Given the description of an element on the screen output the (x, y) to click on. 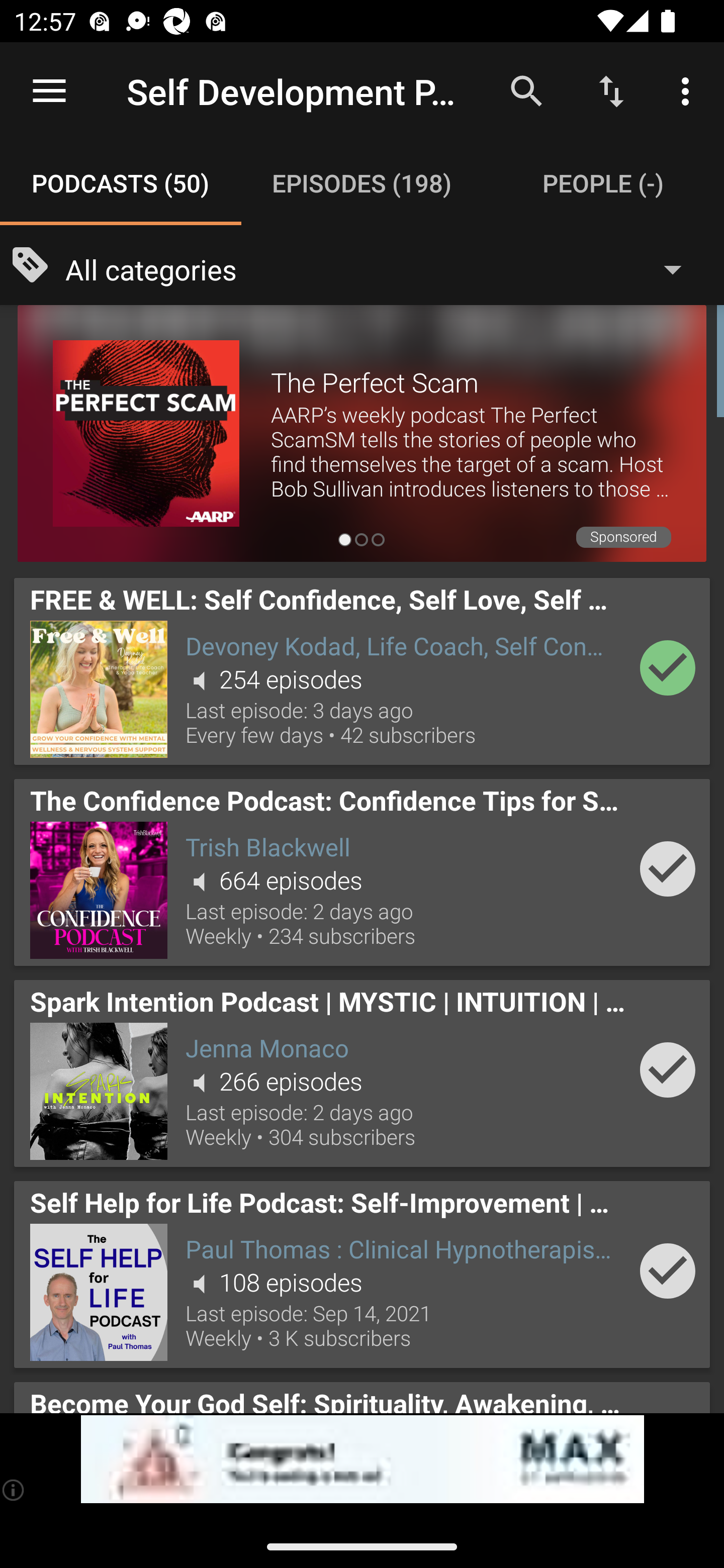
Open navigation sidebar (49, 91)
Search (526, 90)
Sort (611, 90)
More options (688, 90)
Episodes (198) EPISODES (198) (361, 183)
People (-) PEOPLE (-) (603, 183)
All categories (383, 268)
Add (667, 667)
Add (667, 868)
Add (667, 1069)
Add (667, 1271)
app-monetization (362, 1459)
(i) (14, 1489)
